Given the description of an element on the screen output the (x, y) to click on. 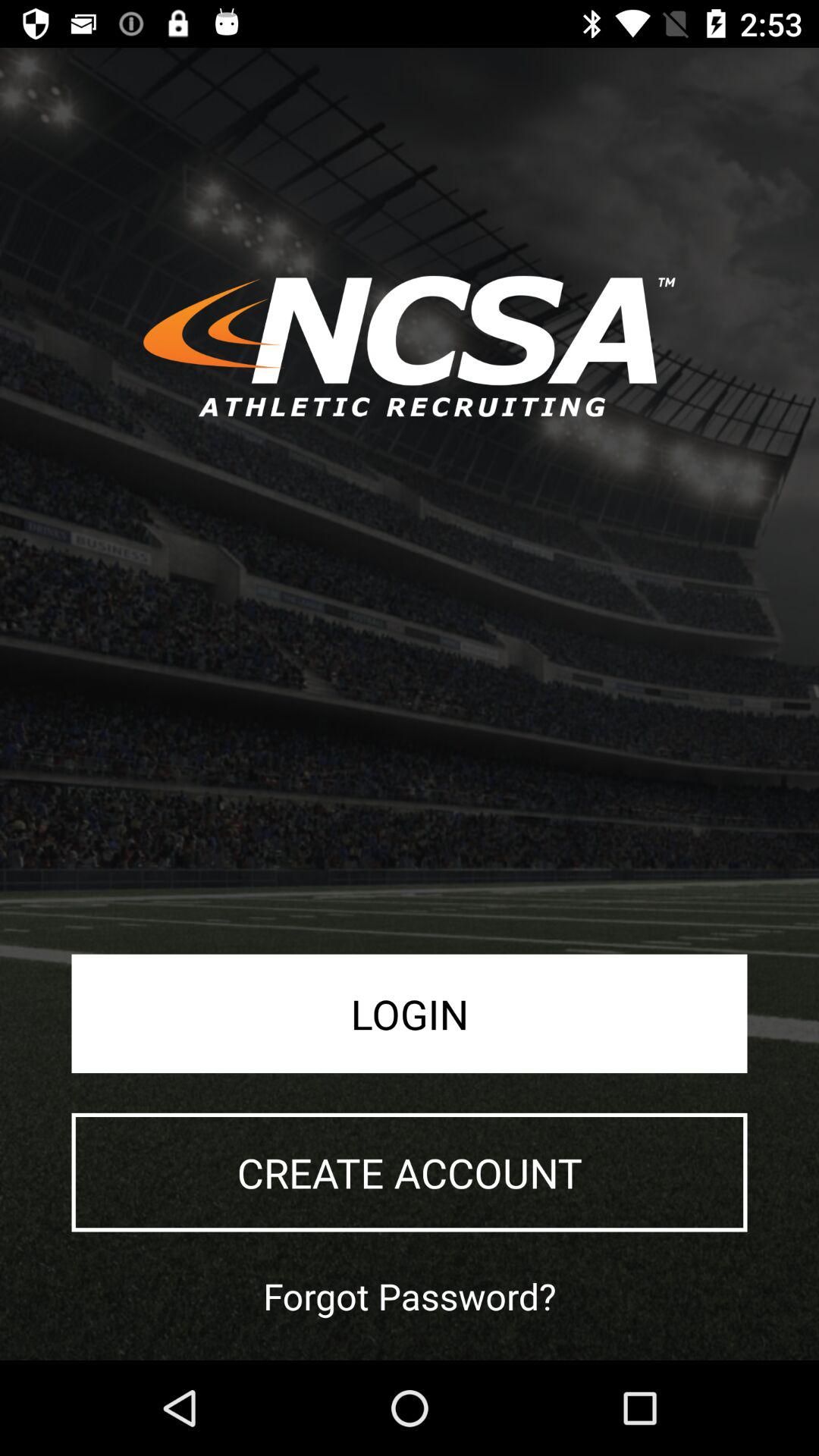
tap login (409, 1013)
